Given the description of an element on the screen output the (x, y) to click on. 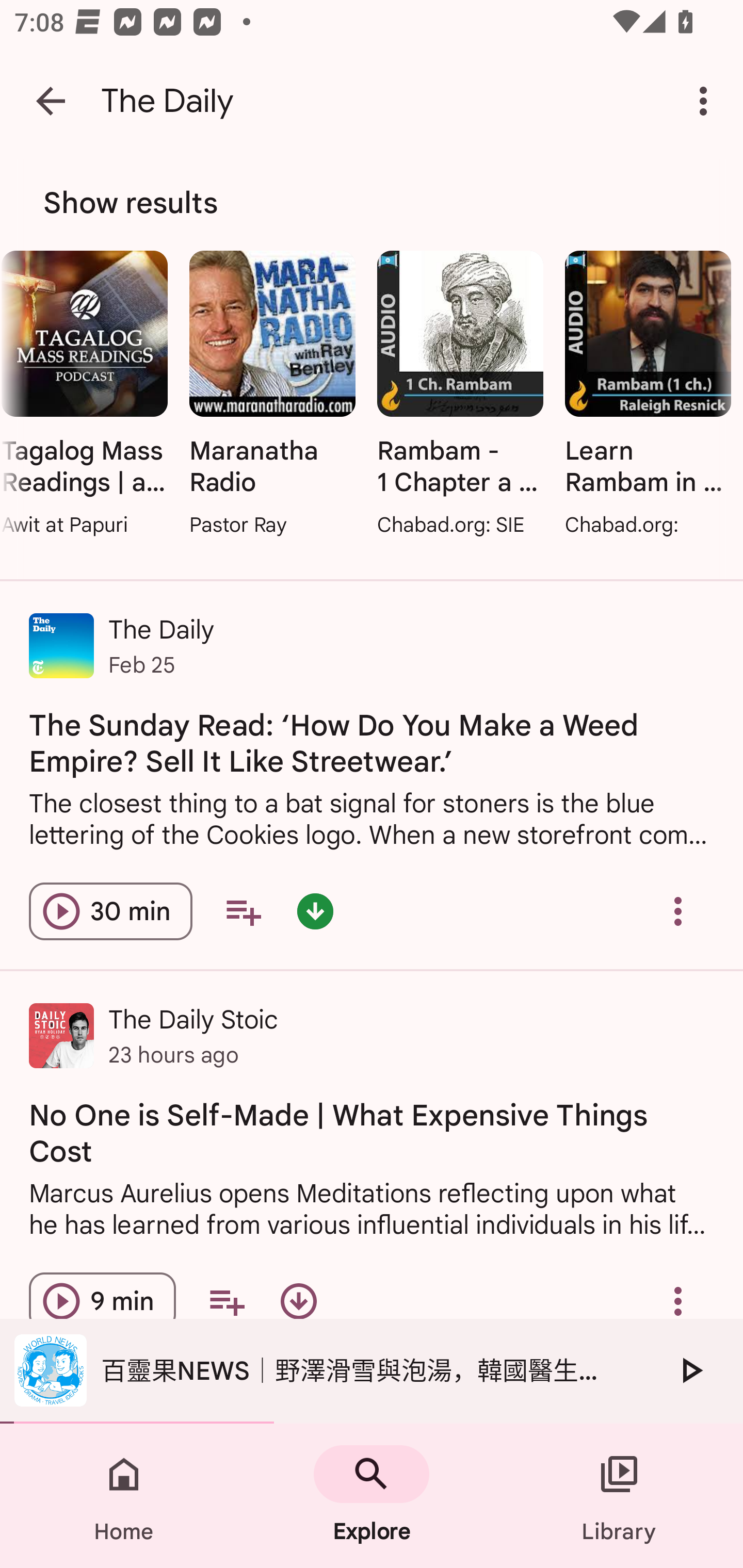
Navigate up The Daily More options (371, 100)
Navigate up (50, 101)
More options (706, 101)
Maranatha Radio Maranatha Radio Pastor Ray Bentley (272, 394)
Add to your queue (242, 911)
Episode downloaded - double tap for options 0.0 (315, 911)
Overflow menu (677, 911)
Add to your queue (226, 1301)
Download episode (298, 1301)
Overflow menu (677, 1301)
Play (690, 1370)
Home (123, 1495)
Library (619, 1495)
